Given the description of an element on the screen output the (x, y) to click on. 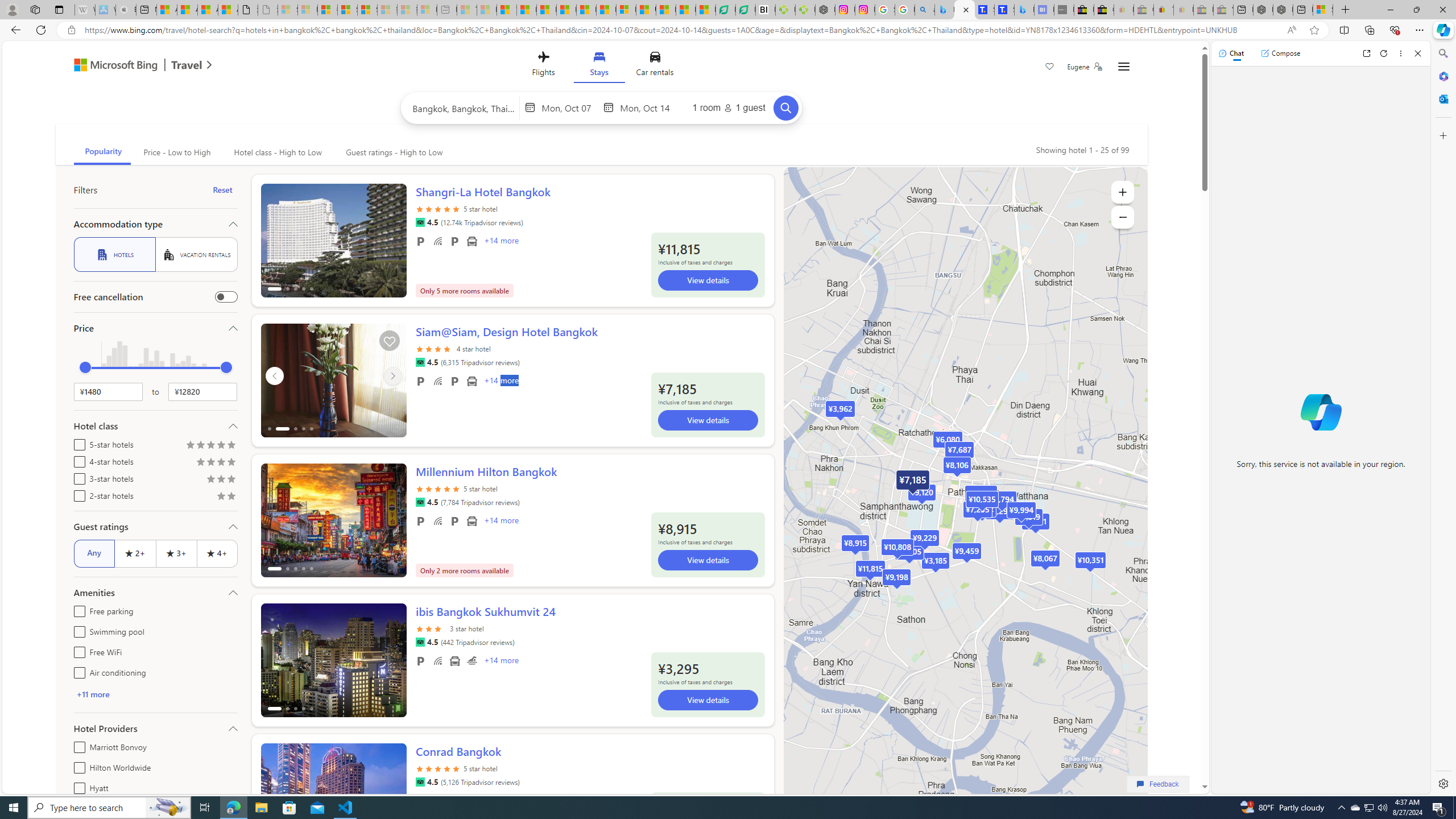
5-star hotels (76, 442)
Microsoft Services Agreement - Sleeping (306, 9)
+14 More Amenities (500, 661)
US Heat Deaths Soared To Record High Last Year (646, 9)
Shangri-La Bangkok, Hotel reviews and Room rates (1004, 9)
Eugene (1084, 66)
Compose (1280, 52)
Start Date (569, 107)
